Given the description of an element on the screen output the (x, y) to click on. 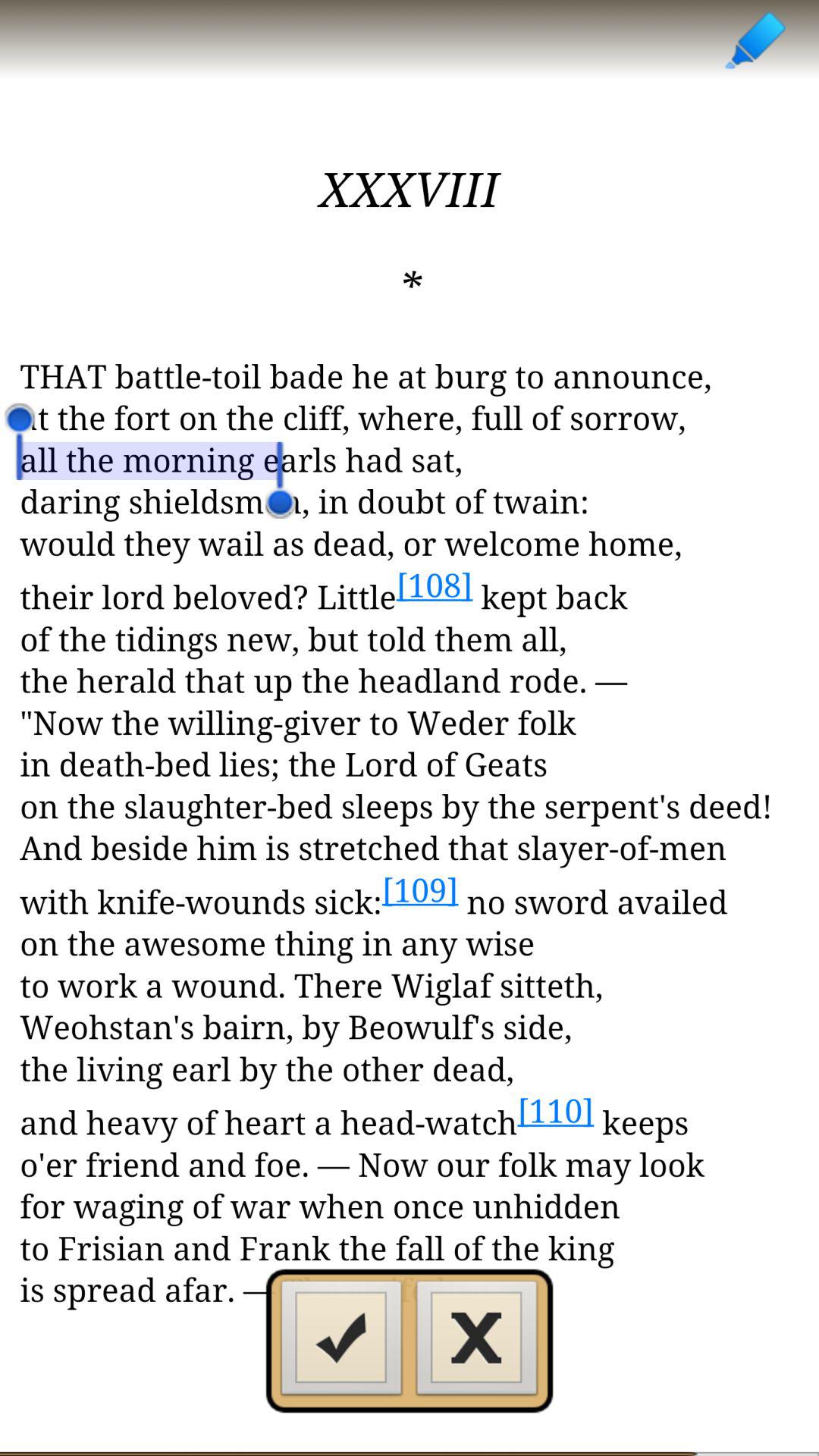
close button (476, 1341)
